Given the description of an element on the screen output the (x, y) to click on. 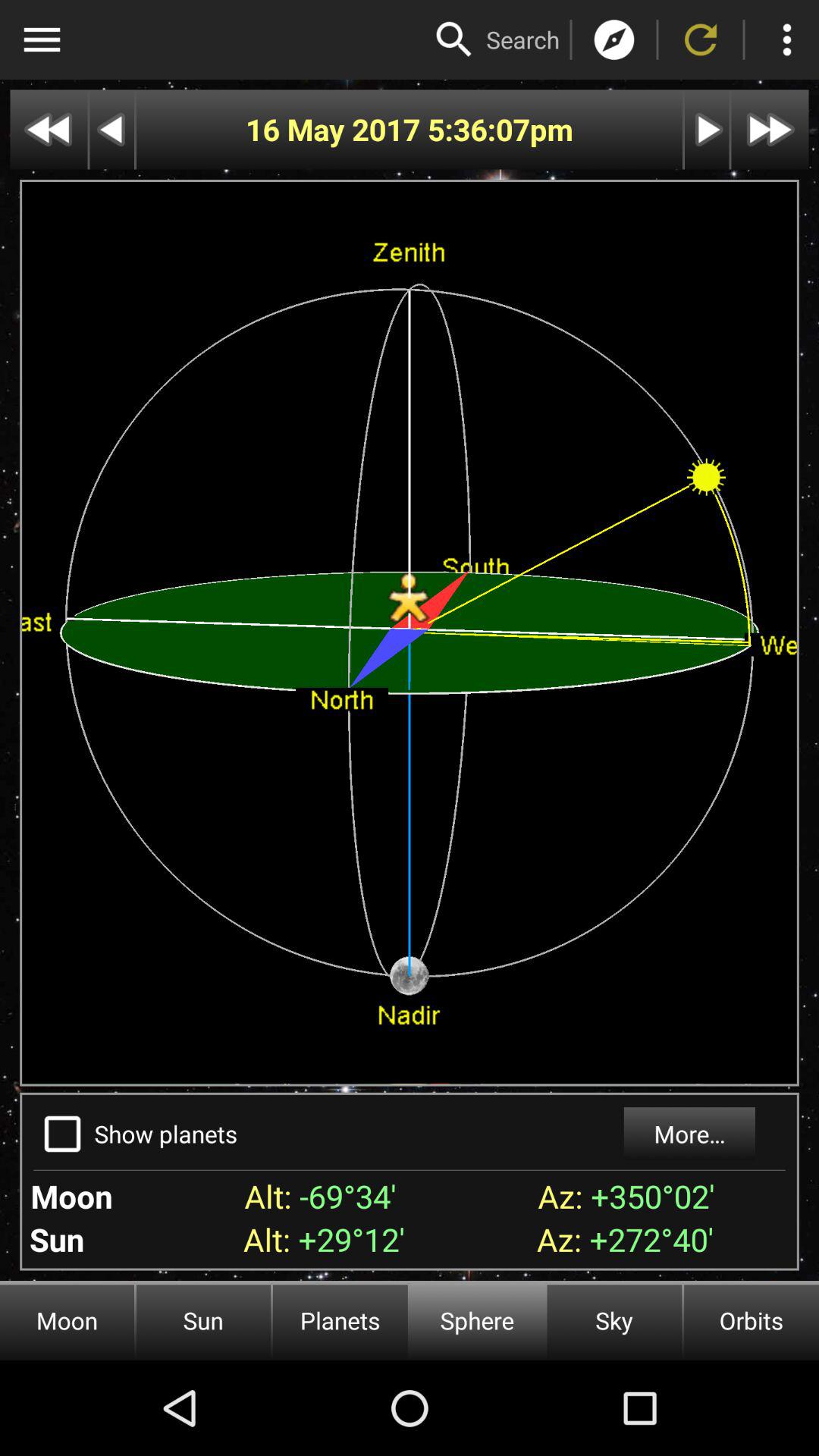
press play (706, 129)
